Given the description of an element on the screen output the (x, y) to click on. 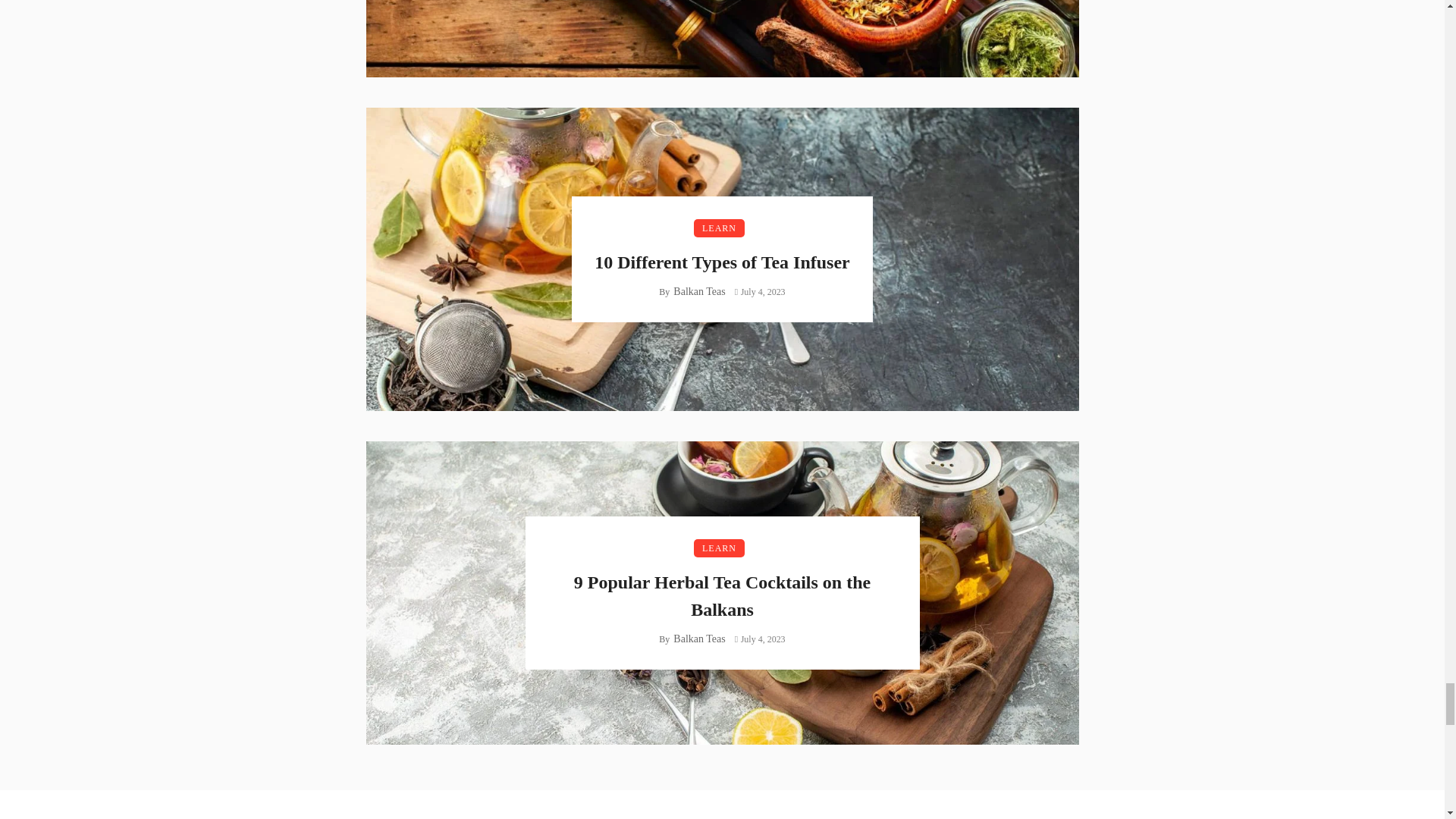
July 4, 2023 at 3:13 am (760, 638)
July 4, 2023 at 4:35 pm (760, 291)
